Given the description of an element on the screen output the (x, y) to click on. 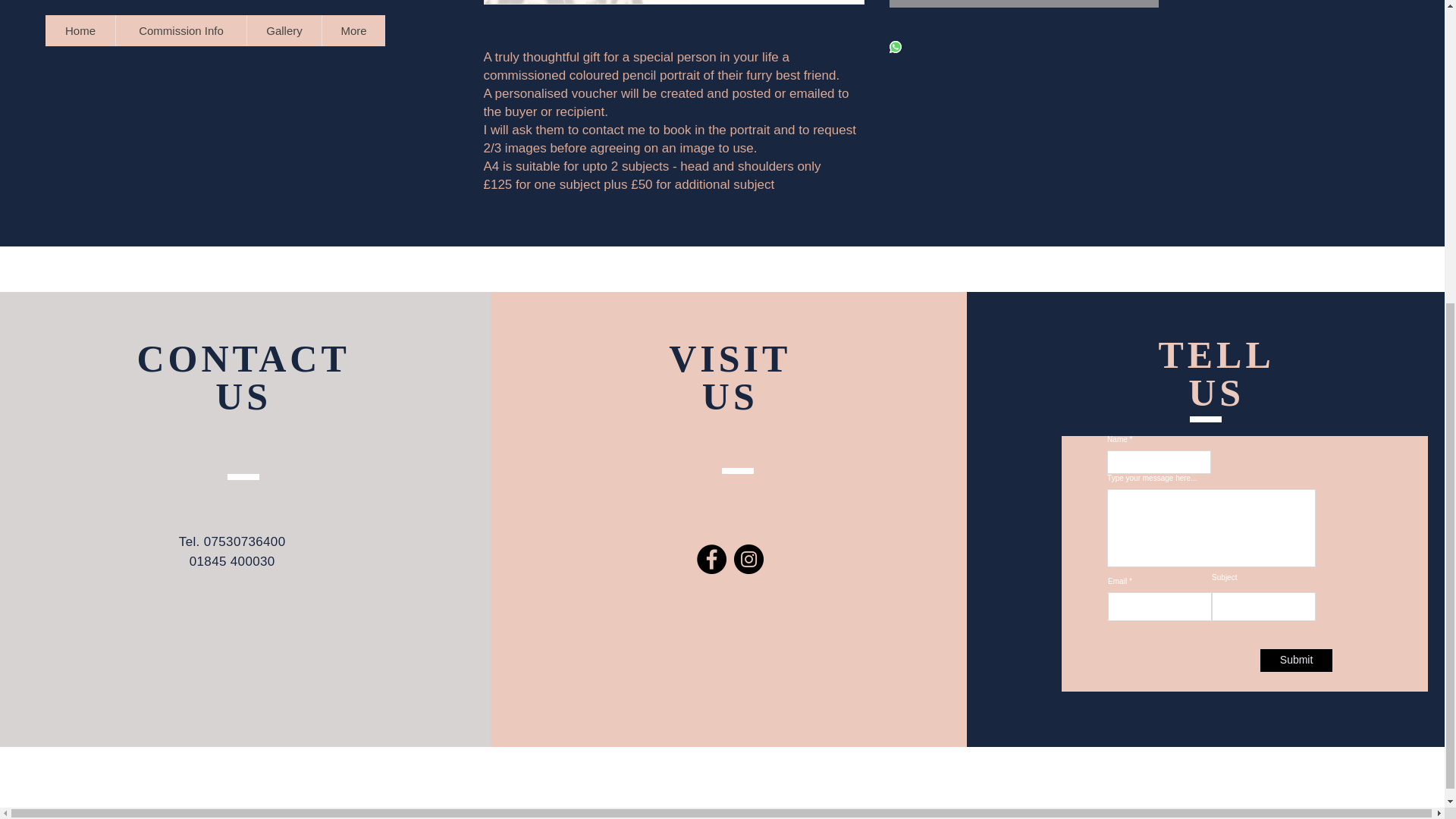
Wix.com (860, 373)
Submit (1296, 660)
Add to Cart (1022, 3)
